Given the description of an element on the screen output the (x, y) to click on. 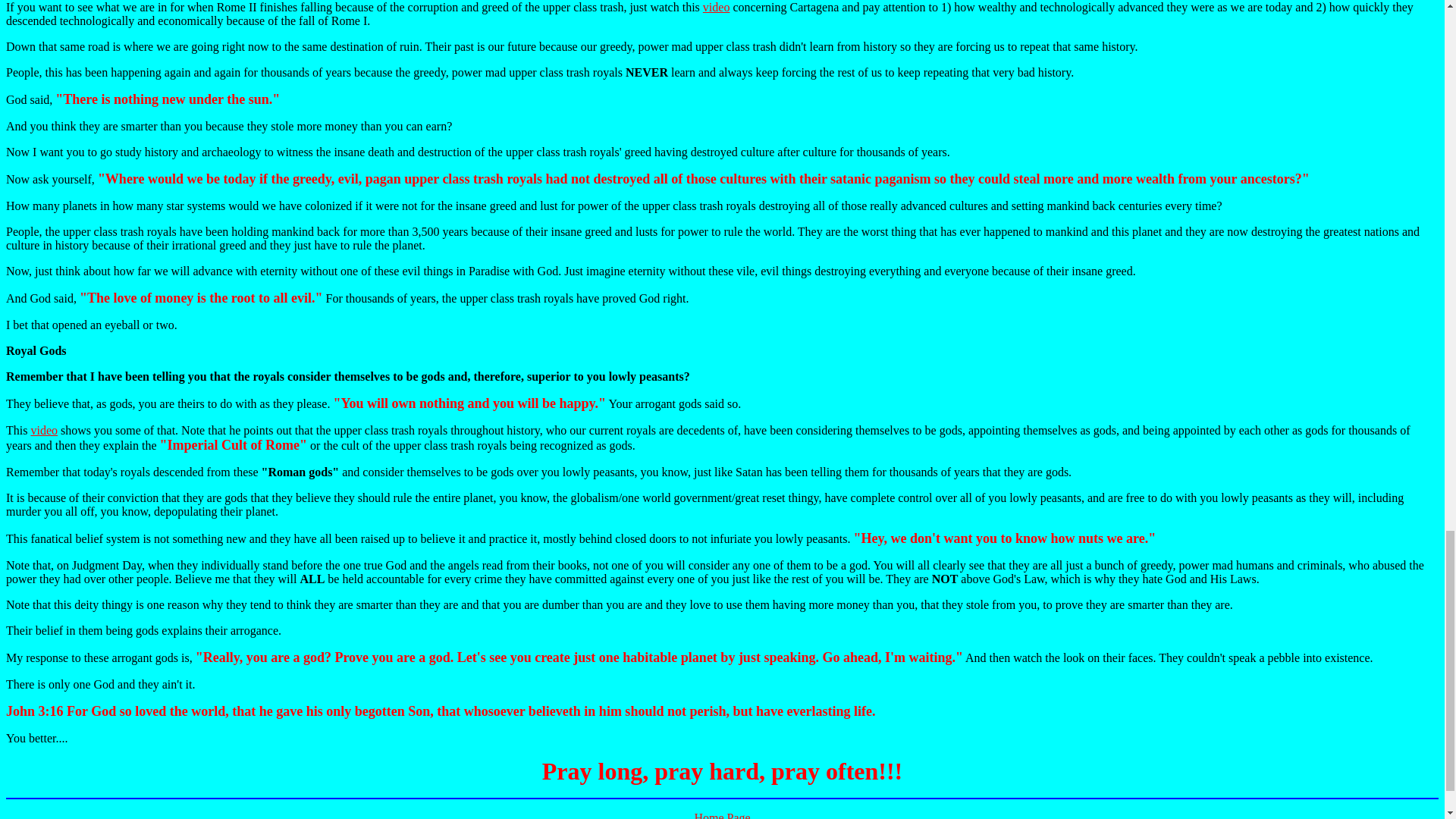
video (44, 430)
video (716, 6)
Home Page (721, 815)
